Given the description of an element on the screen output the (x, y) to click on. 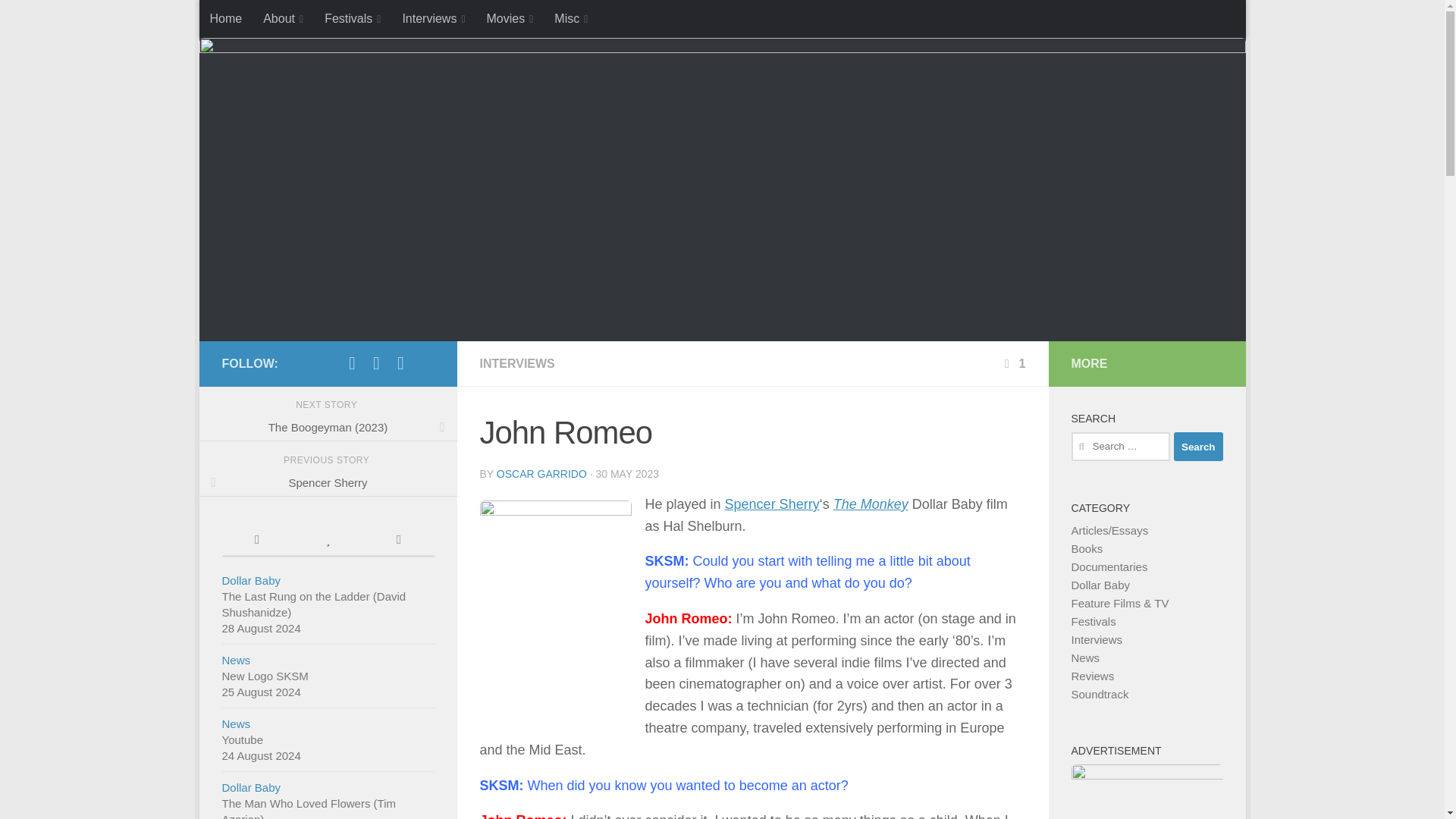
Recent Posts (256, 540)
Festivals (352, 18)
About (282, 18)
Follow us on Instagram (400, 362)
Skip to content (263, 20)
Interviews (433, 18)
Follow us on twitter (375, 362)
Posts by Oscar Garrido (541, 473)
Home (224, 18)
Popular Posts (327, 540)
